Given the description of an element on the screen output the (x, y) to click on. 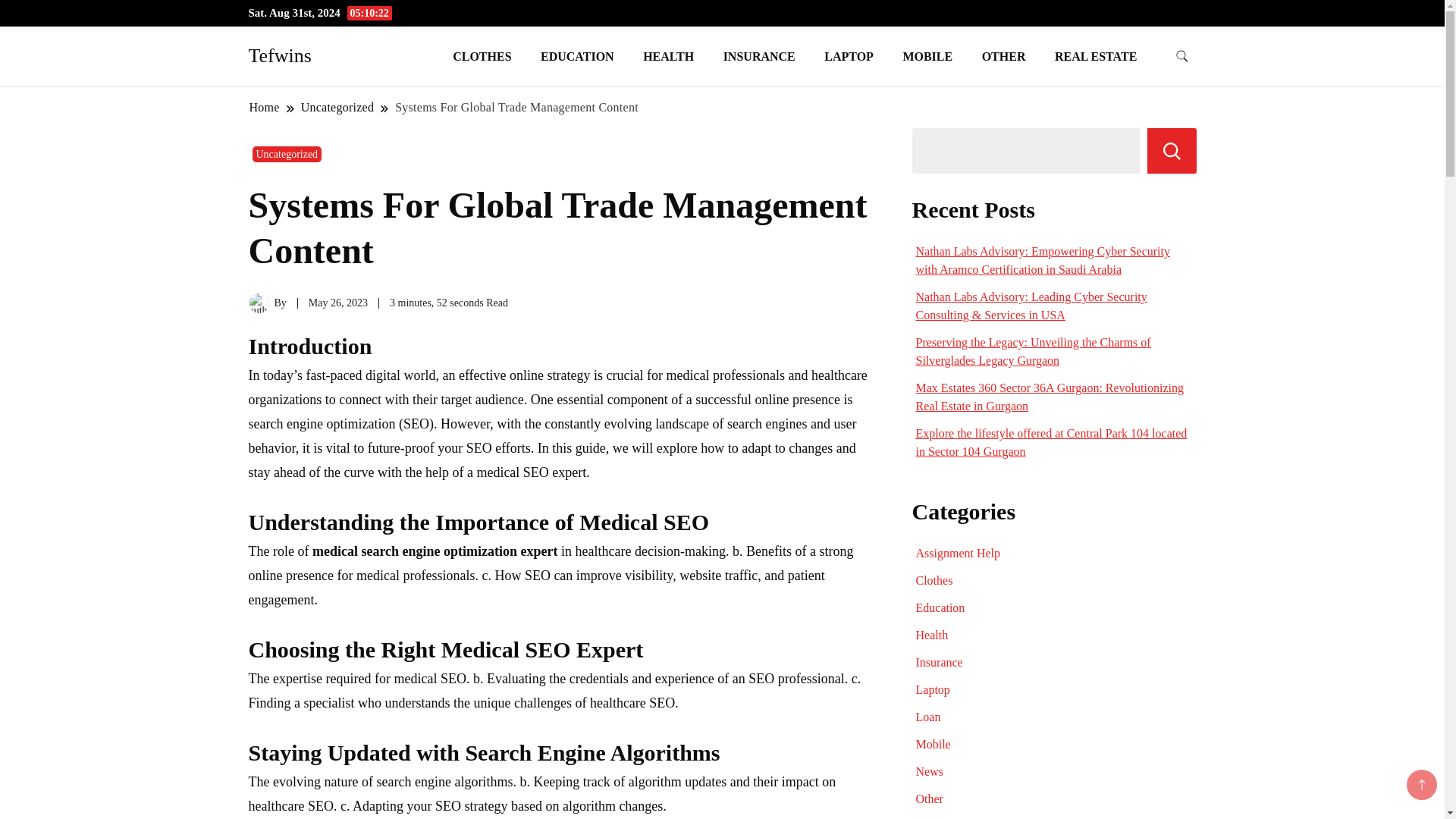
OTHER (1004, 56)
EDUCATION (577, 56)
May 26, 2023 (338, 302)
Tefwins (279, 55)
MOBILE (927, 56)
REAL ESTATE (1096, 56)
Home (264, 106)
LAPTOP (848, 56)
HEALTH (668, 56)
making. (706, 550)
